Given the description of an element on the screen output the (x, y) to click on. 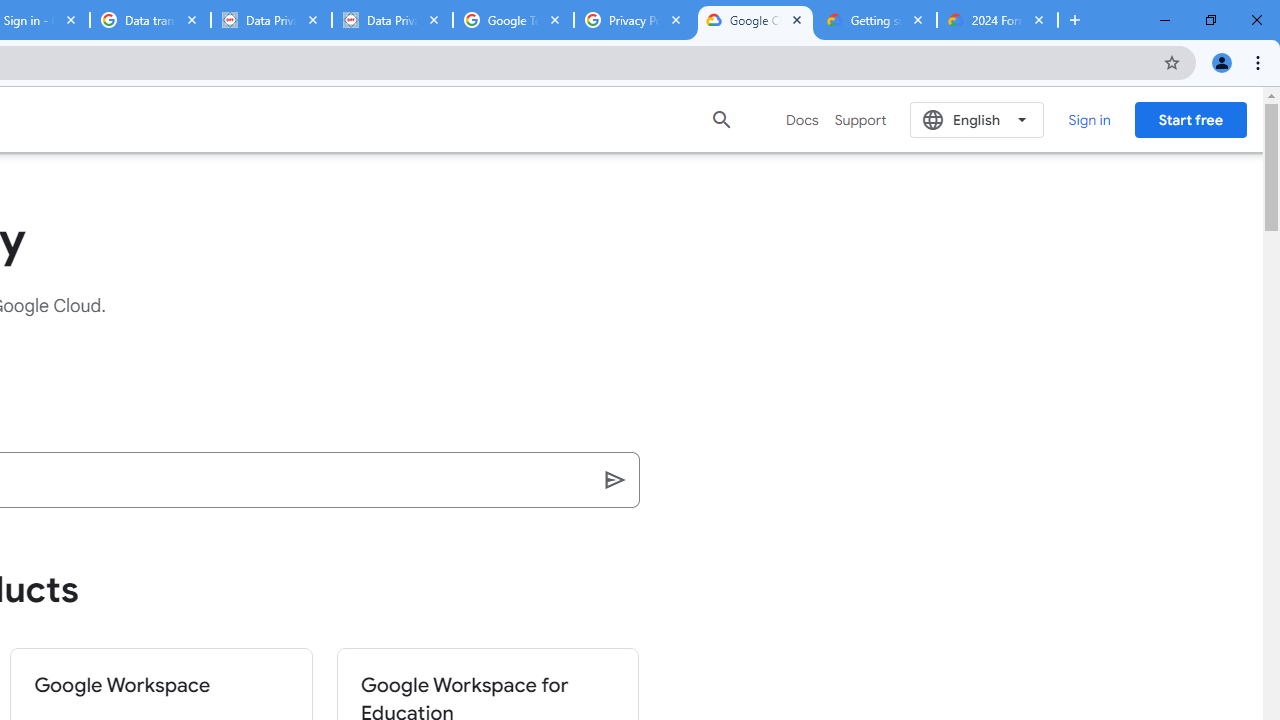
Docs (802, 119)
Minimize (1165, 20)
New Tab (1075, 20)
Google Cloud Terms Directory | Google Cloud (755, 20)
Data Privacy Framework (392, 20)
Restore (1210, 20)
Start free (1190, 119)
